Given the description of an element on the screen output the (x, y) to click on. 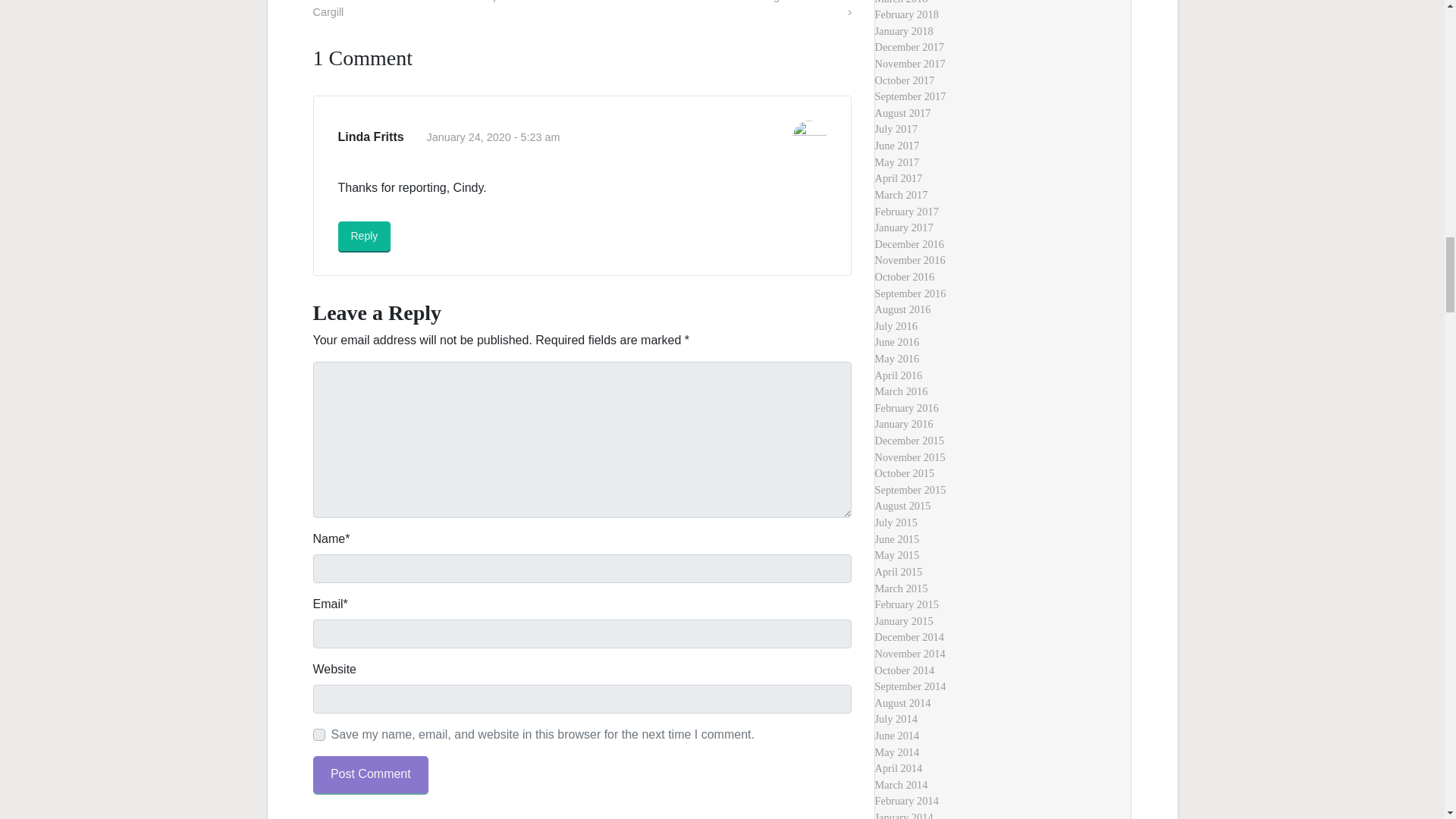
January 24, 2020 - 5:23 am (493, 137)
Demonstrators brave cold to turn up heat on Cargill (425, 9)
Post Comment (370, 773)
Post Comment (370, 773)
Reward offered in search for bald eagle killer in Iowa (723, 9)
Reply (364, 235)
